Given the description of an element on the screen output the (x, y) to click on. 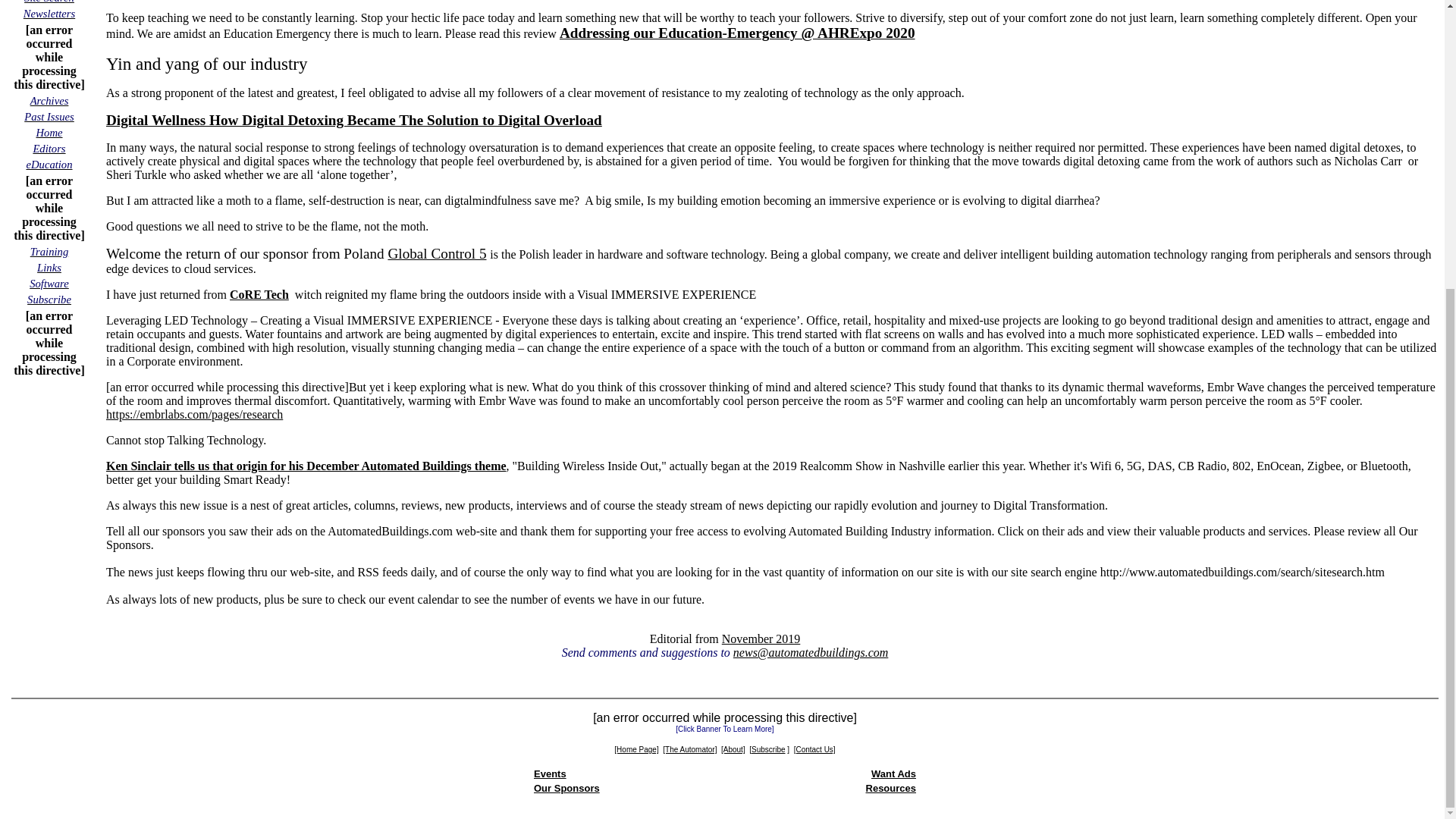
November 2019 (761, 638)
Training (49, 250)
Archives (49, 100)
Subscribe (49, 298)
Links (49, 267)
Global Control 5 (436, 253)
Site Search (49, 2)
Home (48, 132)
CoRE Tech (259, 294)
